Given the description of an element on the screen output the (x, y) to click on. 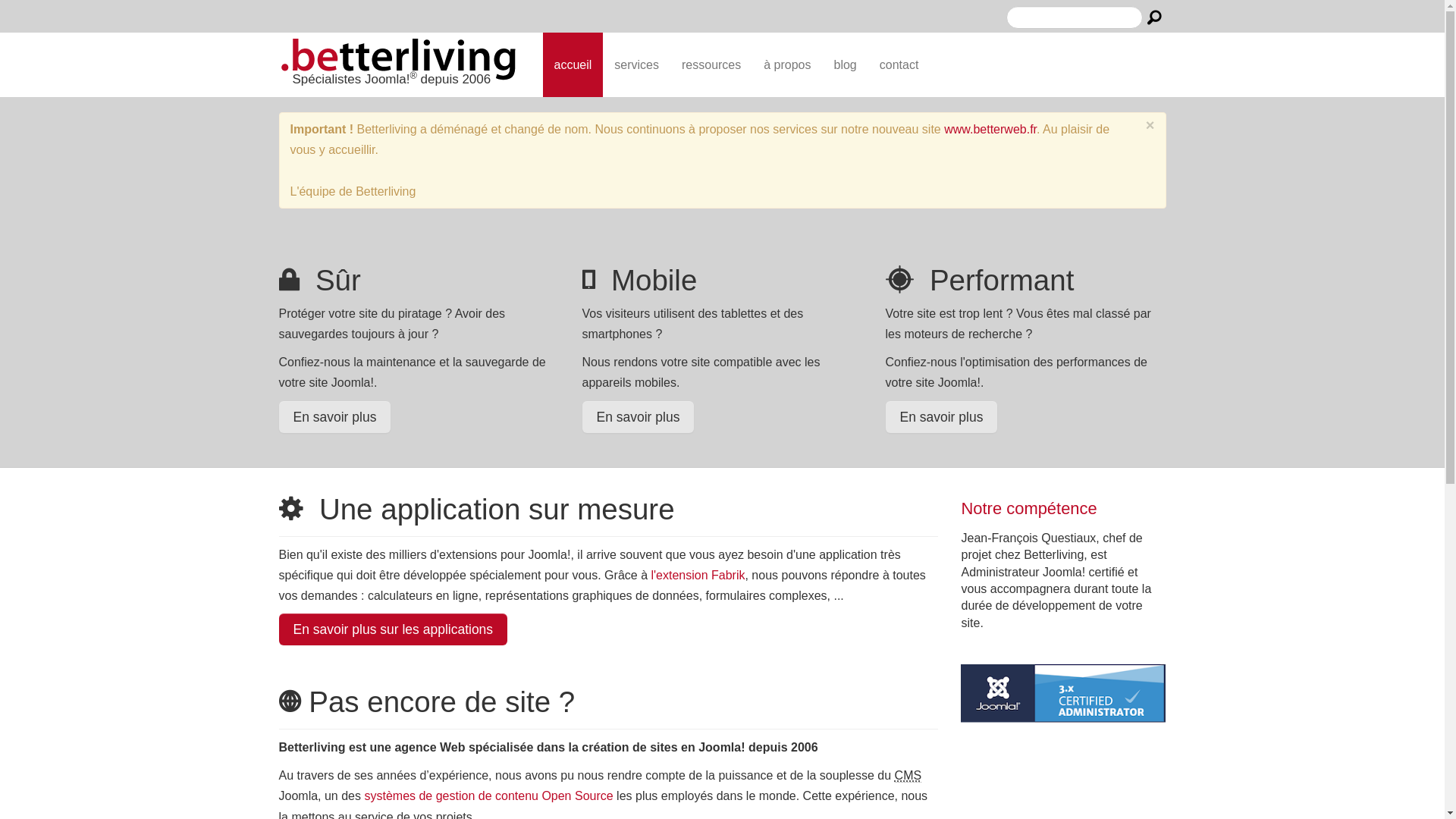
ressources Element type: text (711, 64)
Aller Element type: hover (1153, 17)
accueil Element type: text (572, 64)
En savoir plus sur les applications Element type: text (393, 629)
En savoir plus Element type: text (941, 416)
contact Element type: text (899, 64)
www.betterweb.fr Element type: text (990, 128)
l'extension Fabrik Element type: text (697, 574)
blog Element type: text (845, 64)
En savoir plus Element type: text (335, 416)
services Element type: text (636, 64)
En savoir plus Element type: text (638, 416)
Agence Web Joomla! Betterliving Element type: hover (398, 59)
